Given the description of an element on the screen output the (x, y) to click on. 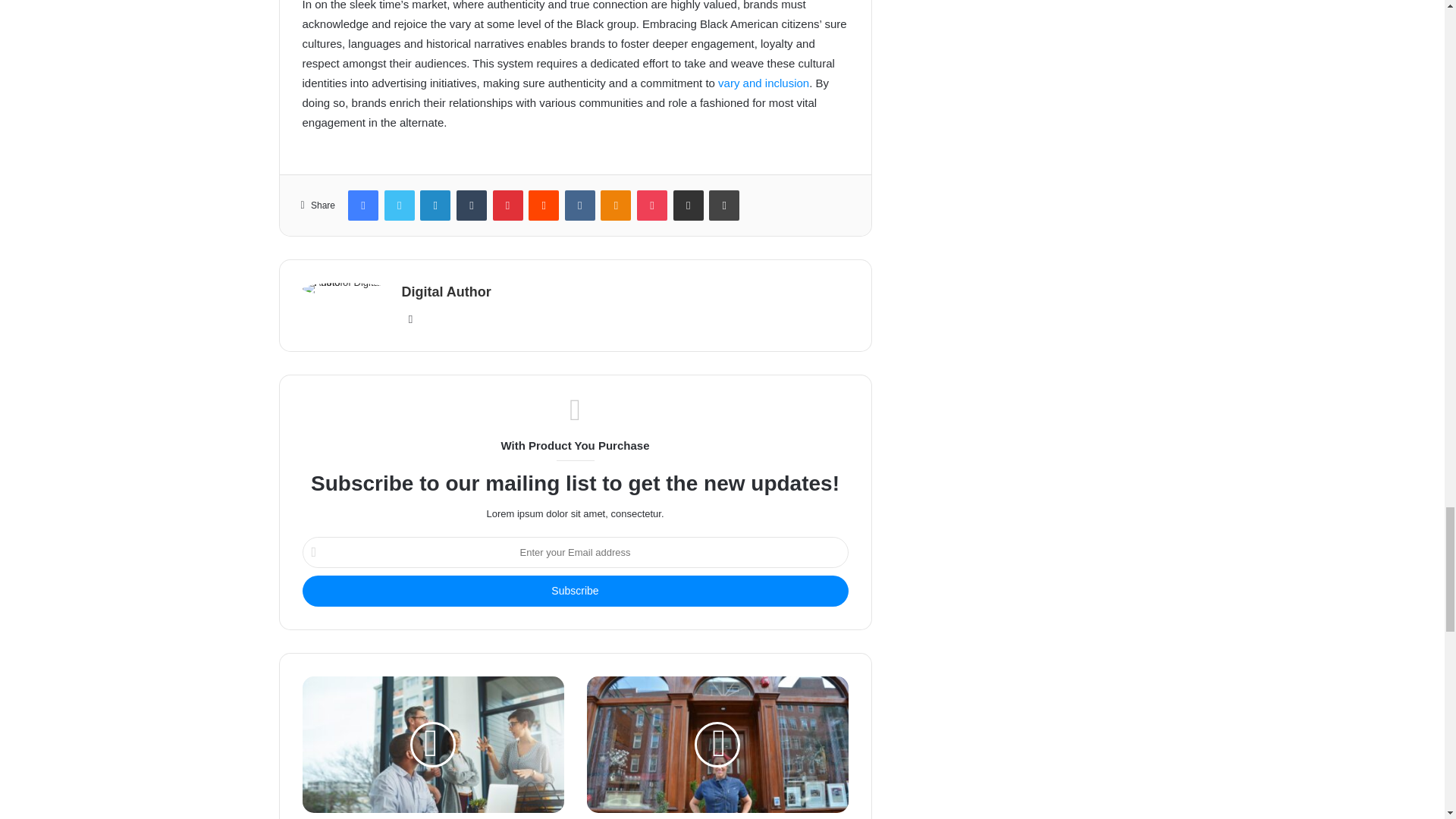
Reddit (543, 205)
Subscribe (574, 590)
LinkedIn (434, 205)
Twitter (399, 205)
Tumblr (471, 205)
Facebook (362, 205)
VKontakte (579, 205)
Pinterest (507, 205)
